Given the description of an element on the screen output the (x, y) to click on. 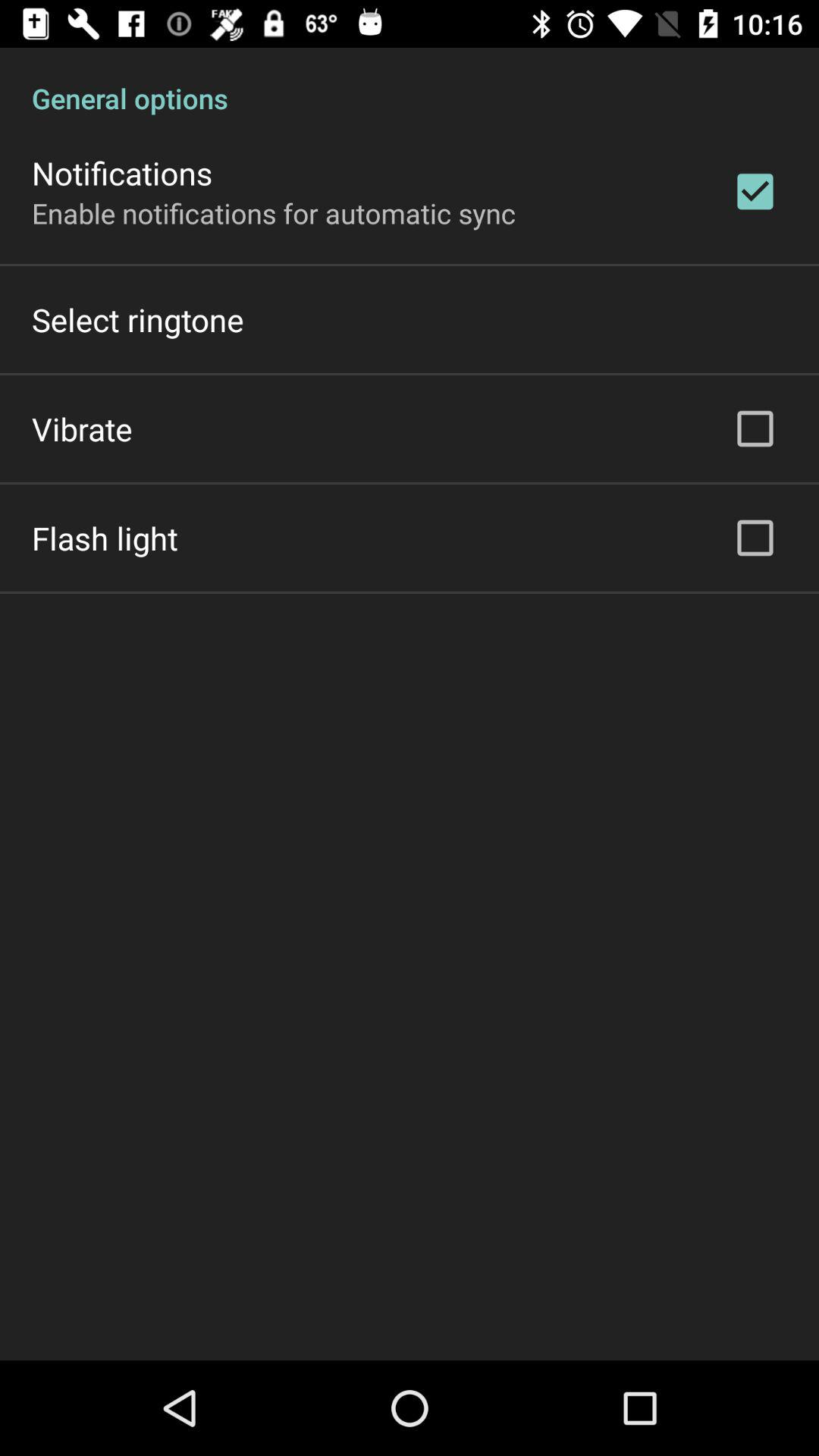
turn off the icon on the left (104, 537)
